Given the description of an element on the screen output the (x, y) to click on. 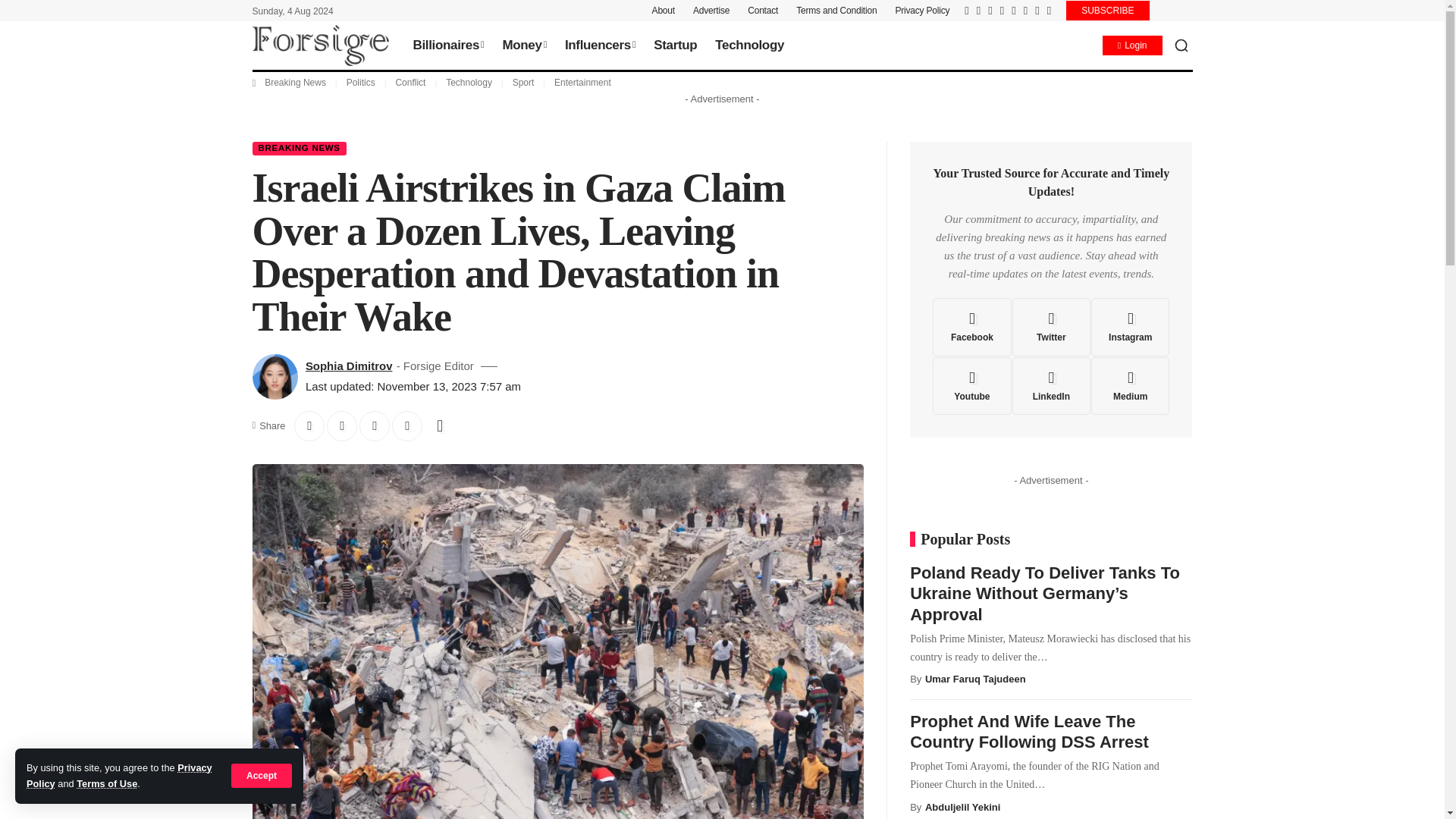
About (663, 10)
Contact (762, 10)
Money (523, 45)
Terms of Use (106, 783)
Terms and Condition (836, 10)
Privacy Policy (119, 775)
Accept (261, 775)
SUBSCRIBE (1106, 10)
Privacy Policy (922, 10)
Advertise (711, 10)
Billionaires (448, 45)
